Given the description of an element on the screen output the (x, y) to click on. 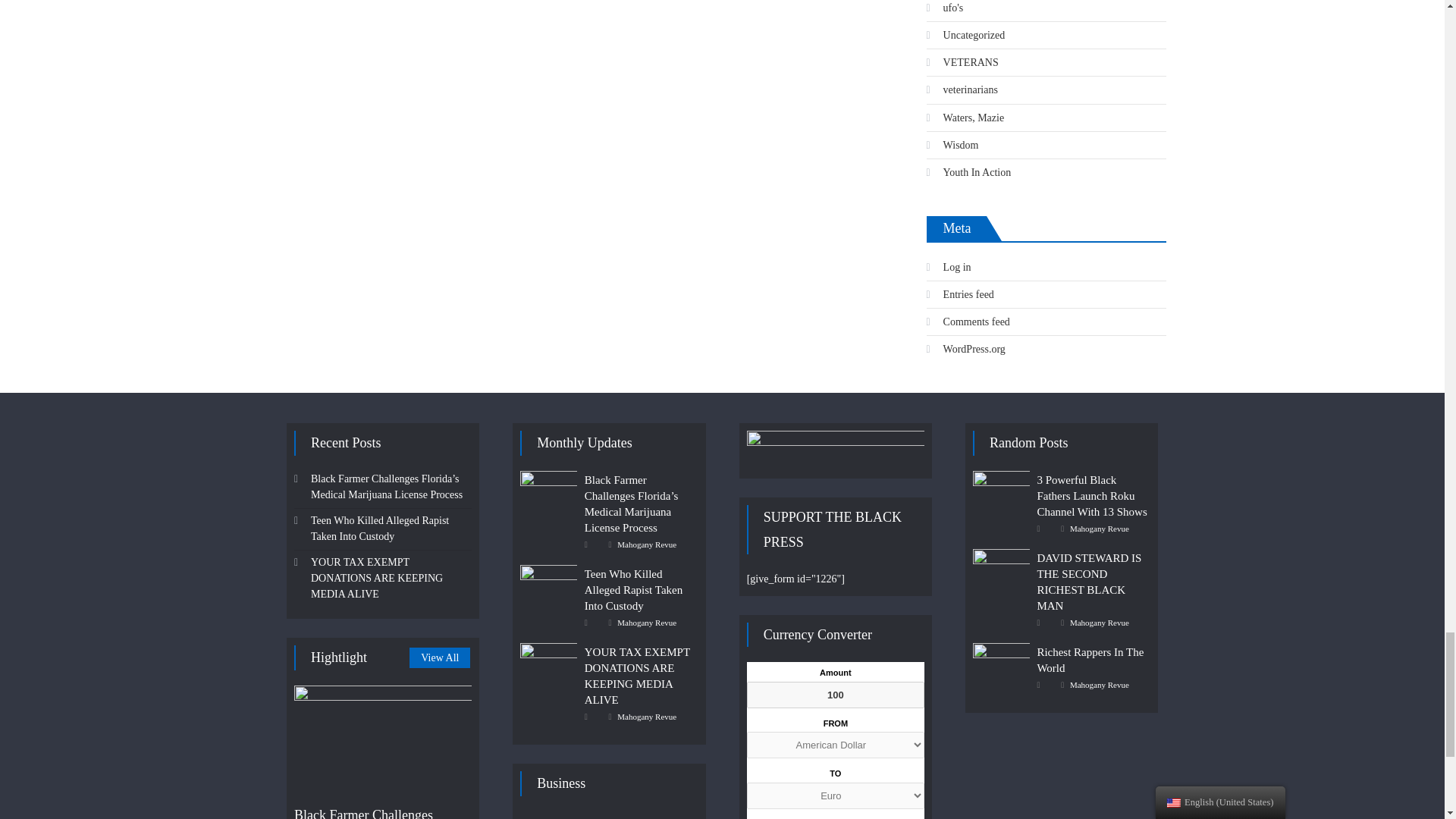
DAVID STEWARD IS THE SECOND RICHEST BLACK MAN (1000, 568)
YOUR TAX EXEMPT DONATIONS ARE KEEPING MEDIA ALIVE (547, 662)
Richest Rappers In The World (1000, 662)
100 (835, 694)
Teen Who Killed Alleged Rapist Taken Into Custody (547, 585)
3 Powerful Black Fathers Launch Roku Channel With 13 Shows (1000, 490)
